Given the description of an element on the screen output the (x, y) to click on. 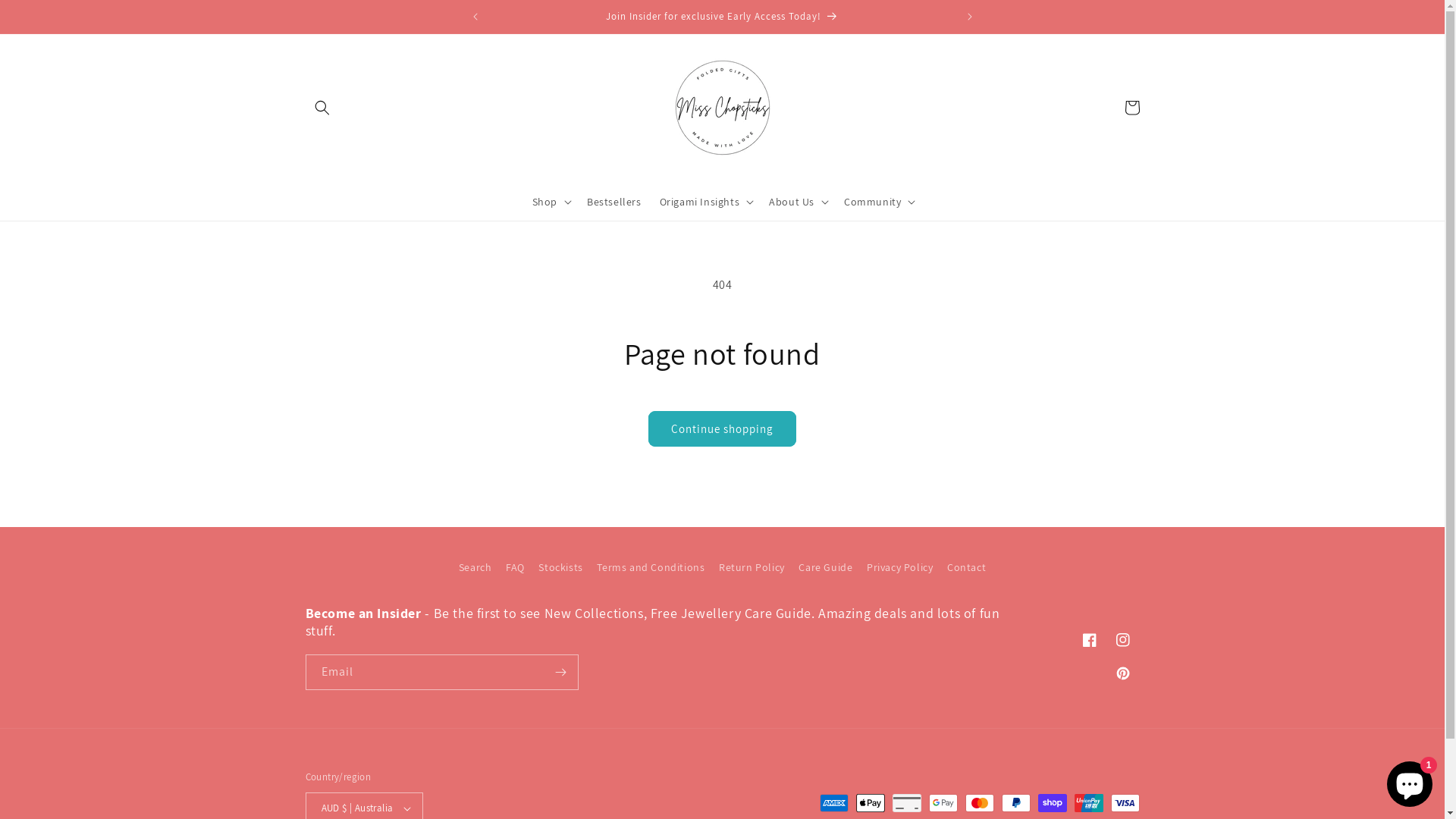
Return Policy Element type: text (751, 567)
Shopify online store chat Element type: hover (1409, 780)
FAQ Element type: text (514, 567)
Cart Element type: text (1131, 107)
Terms and Conditions Element type: text (650, 567)
Bestsellers Element type: text (613, 200)
Search Element type: text (475, 569)
Contact Element type: text (966, 567)
Care Guide Element type: text (825, 567)
Pinterest Element type: text (1122, 673)
Continue shopping Element type: text (722, 428)
Facebook Element type: text (1088, 639)
Stockists Element type: text (560, 567)
Instagram Element type: text (1122, 639)
Join Insider for exclusive Early Access Today! Element type: text (721, 17)
Privacy Policy Element type: text (899, 567)
